Given the description of an element on the screen output the (x, y) to click on. 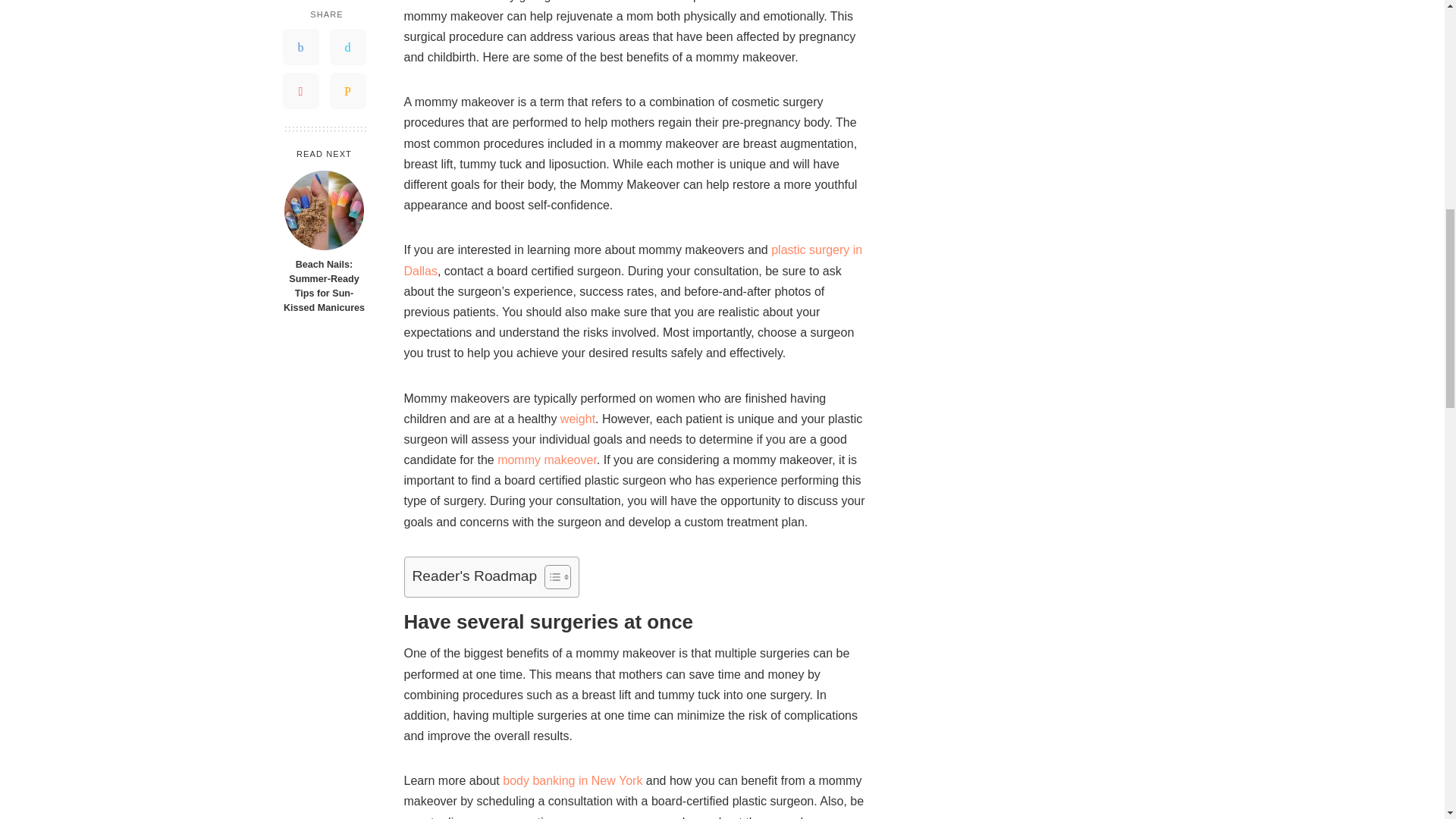
Facebook (300, 9)
Twitter (347, 9)
